Given the description of an element on the screen output the (x, y) to click on. 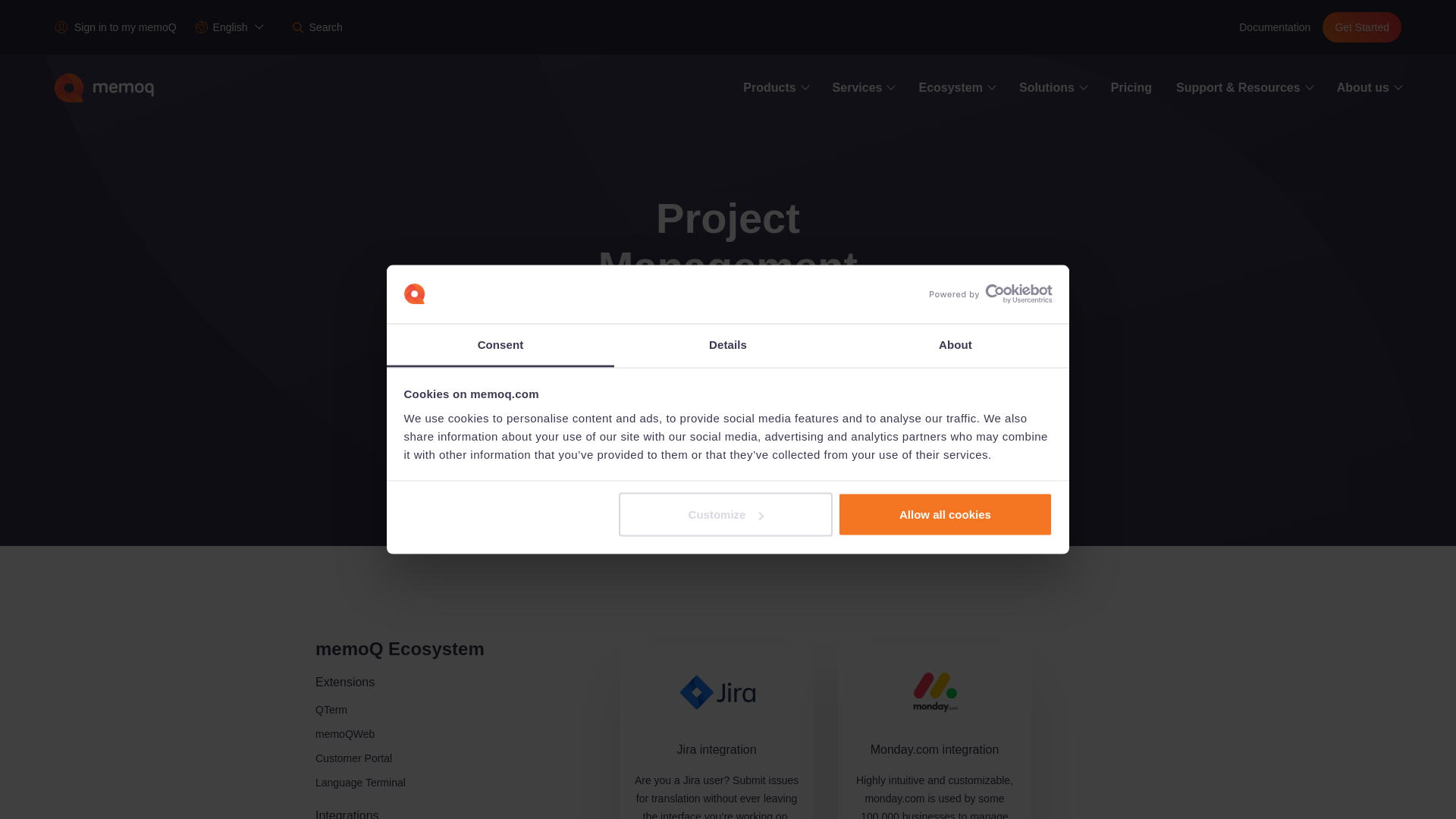
Consent (500, 344)
Details (727, 344)
About (954, 344)
